Given the description of an element on the screen output the (x, y) to click on. 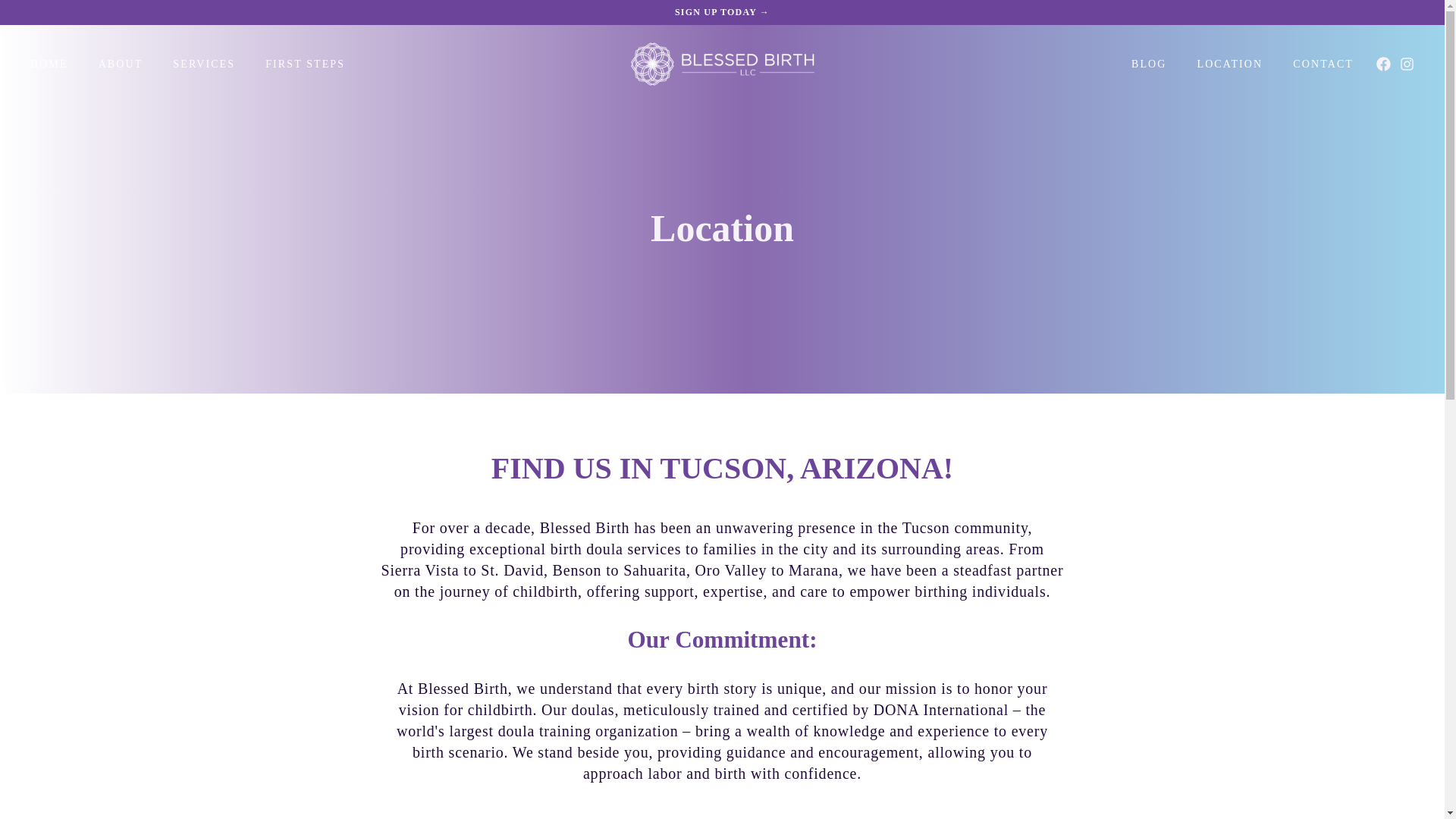
SERVICES (203, 64)
BLOG (1149, 64)
LOCATION (1229, 64)
HOME (48, 64)
CONTACT (1323, 64)
FIRST STEPS (304, 64)
ABOUT (120, 64)
